Given the description of an element on the screen output the (x, y) to click on. 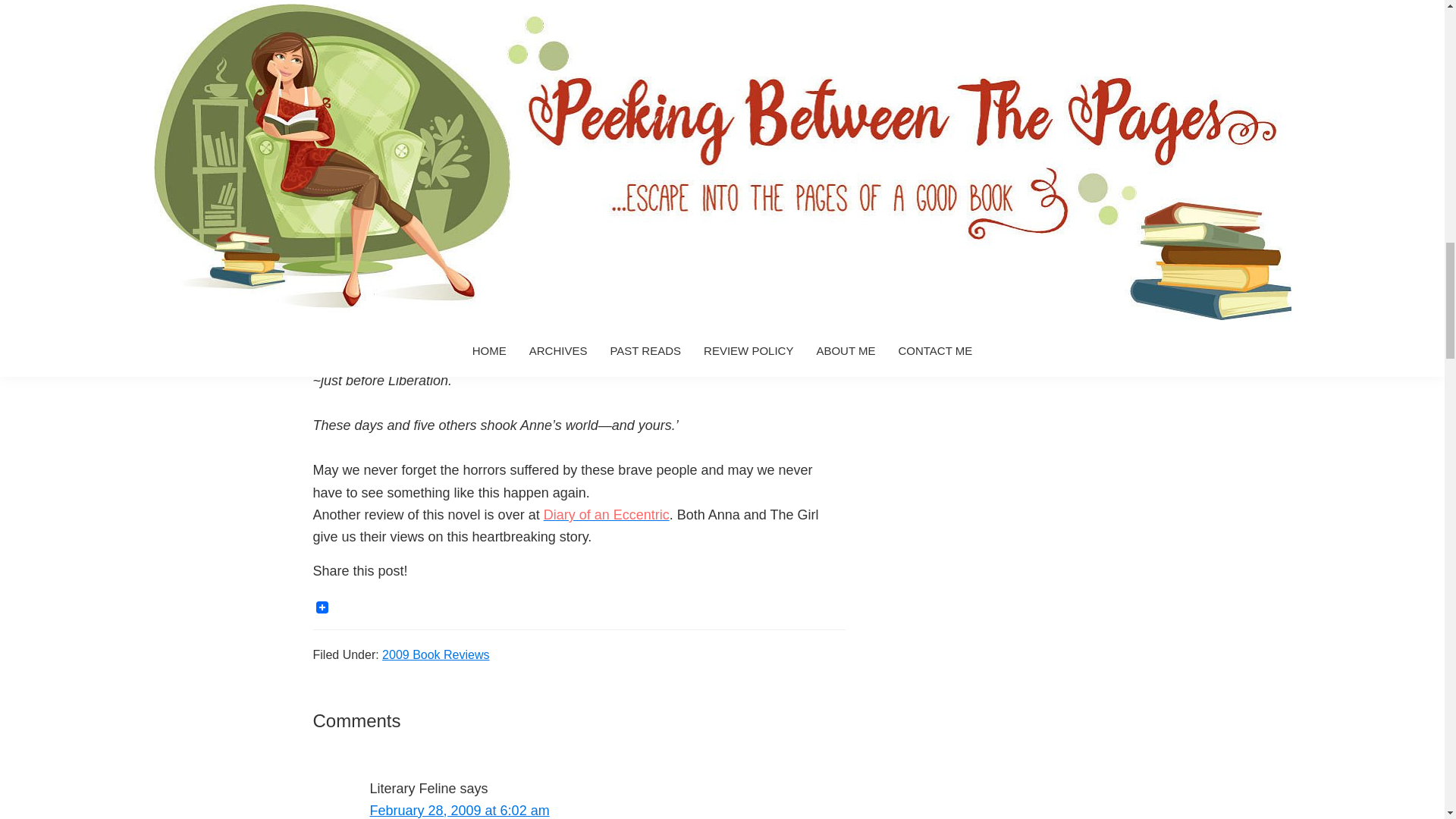
February 28, 2009 at 6:02 am (459, 810)
Diary of an Eccentric (606, 514)
2009 Book Reviews (435, 654)
